Given the description of an element on the screen output the (x, y) to click on. 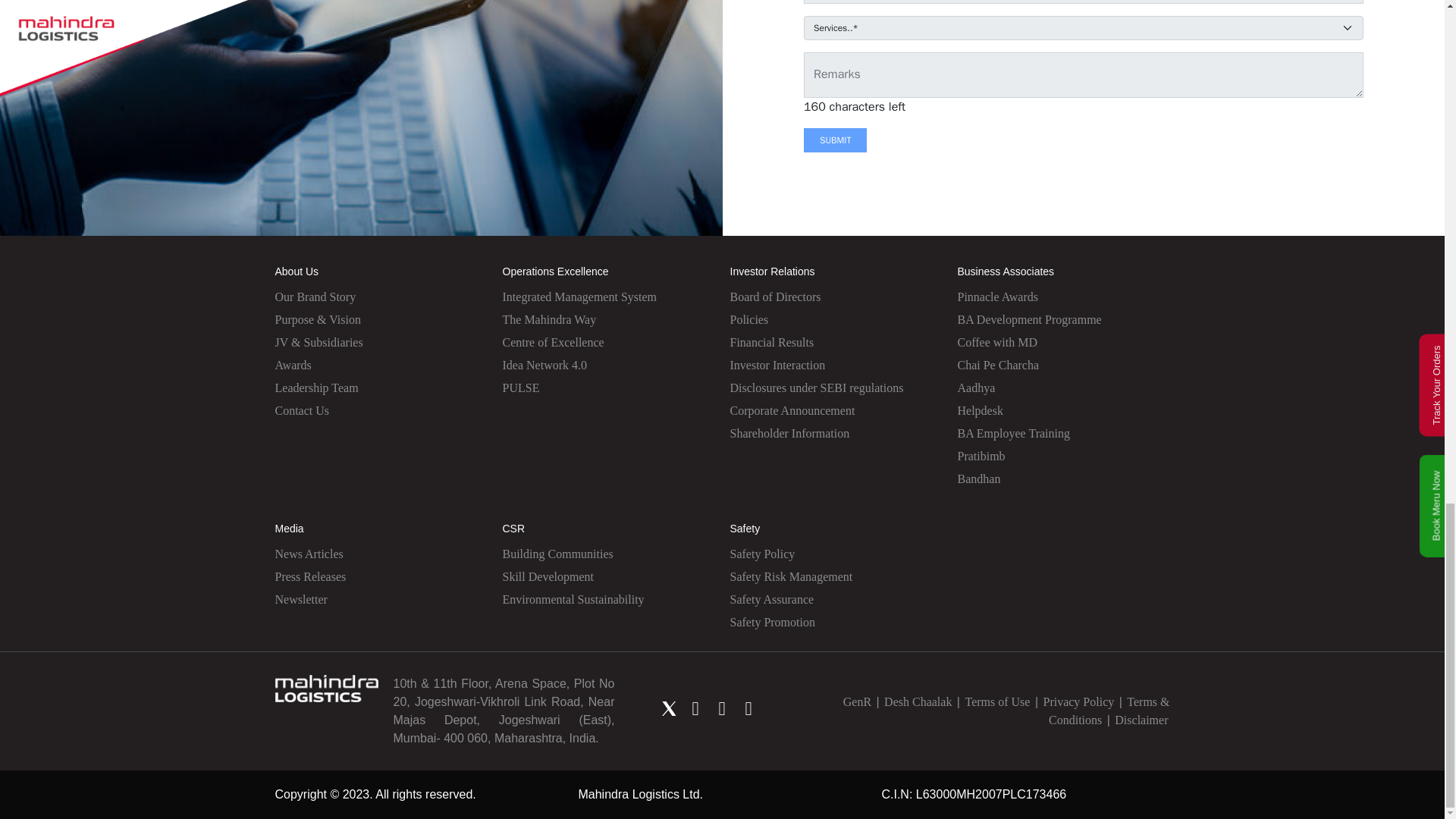
Twitter (668, 708)
image 53 (326, 687)
Facebook (694, 708)
Instagram (747, 708)
linked In (722, 708)
